Given the description of an element on the screen output the (x, y) to click on. 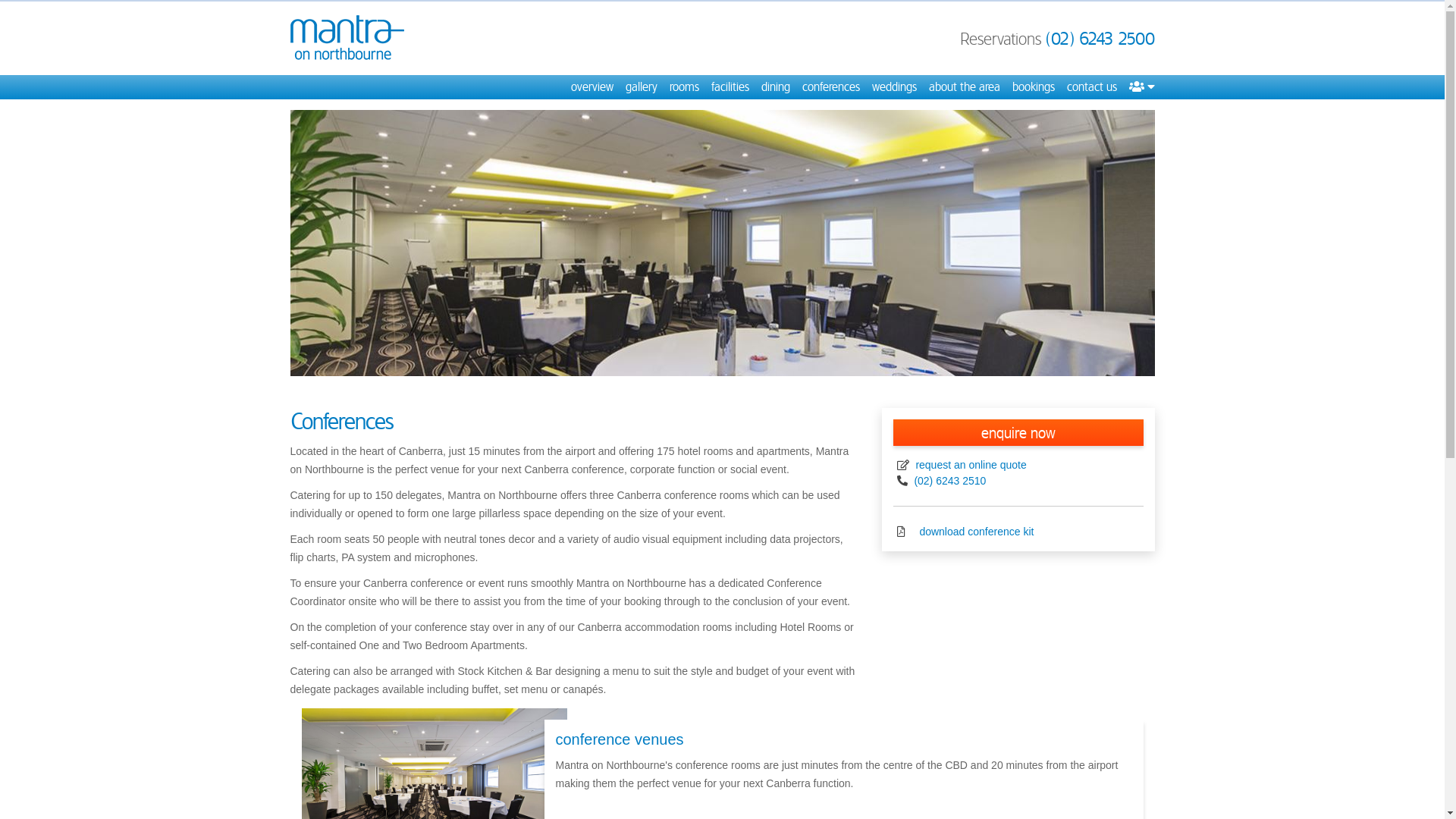
Conference Room - Mantra on Northbourne Element type: hover (721, 242)
request an online quote Element type: text (969, 464)
Mantra on Northbourne Element type: hover (346, 37)
(02) 6243 2500 Element type: text (1099, 38)
weddings Element type: text (894, 87)
conferences Element type: text (830, 87)
(02) 6243 2510 Element type: text (948, 480)
rooms Element type: text (683, 87)
gallery Element type: text (640, 87)
about the area Element type: text (963, 87)
enquire now Element type: text (1018, 432)
dining Element type: text (775, 87)
bookings Element type: text (1032, 87)
facilities Element type: text (730, 87)
contact us Element type: text (1091, 87)
download conference kit Element type: text (974, 531)
overview Element type: text (591, 87)
